Given the description of an element on the screen output the (x, y) to click on. 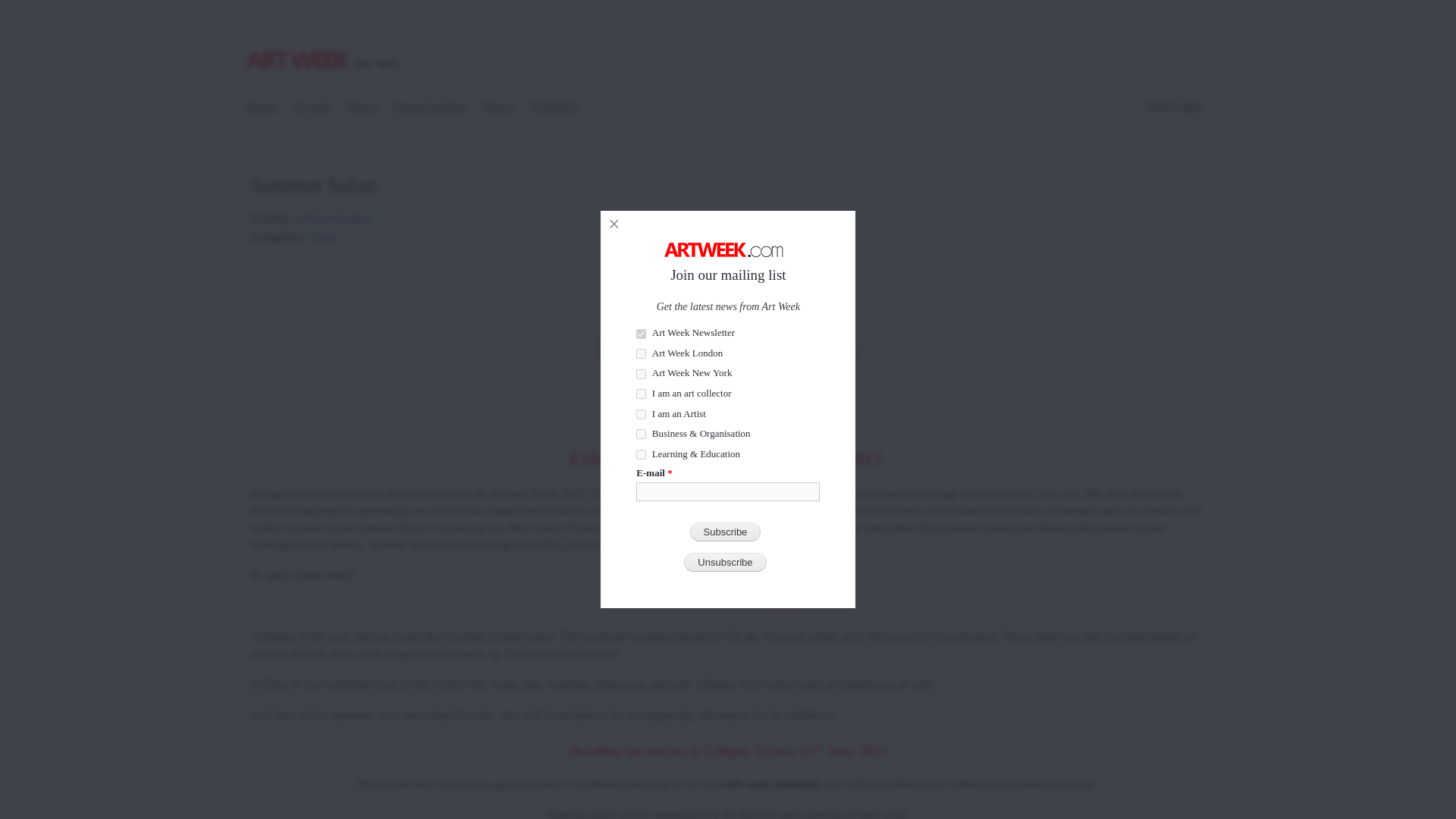
17787 (641, 414)
Skip to main content (695, 1)
Other (323, 232)
17672 (641, 393)
SUBMIT (553, 109)
Art news (362, 109)
Login (1186, 106)
Join (1157, 106)
11700 (641, 454)
Opportunities (430, 109)
